Given the description of an element on the screen output the (x, y) to click on. 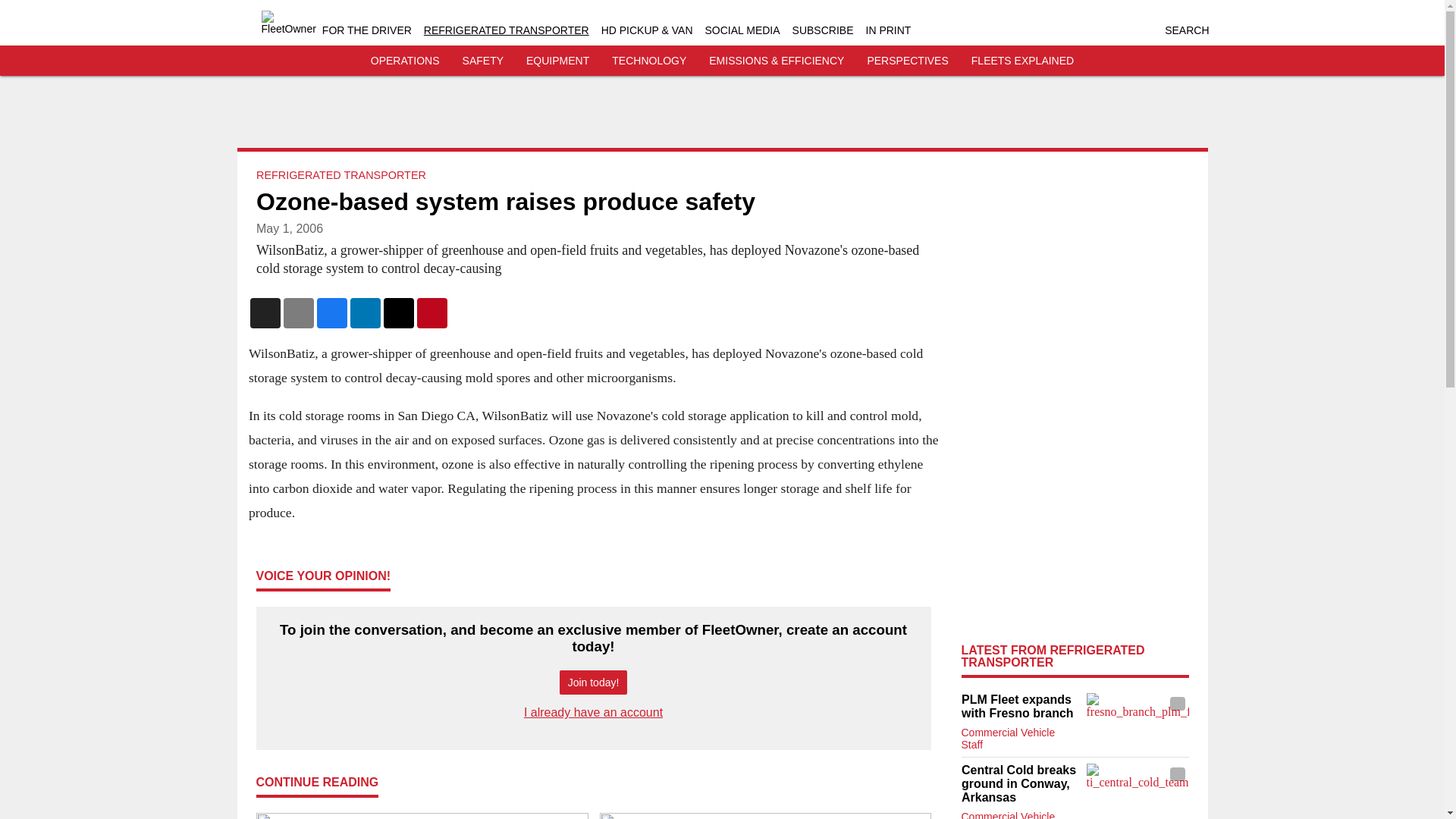
SOCIAL MEDIA (742, 30)
SUBSCRIBE (822, 30)
SEARCH (1186, 30)
I already have an account (593, 712)
EQUIPMENT (557, 60)
REFRIGERATED TRANSPORTER (506, 30)
FOR THE DRIVER (366, 30)
TECHNOLOGY (648, 60)
FLEETS EXPLAINED (1022, 60)
IN PRINT (888, 30)
